Given the description of an element on the screen output the (x, y) to click on. 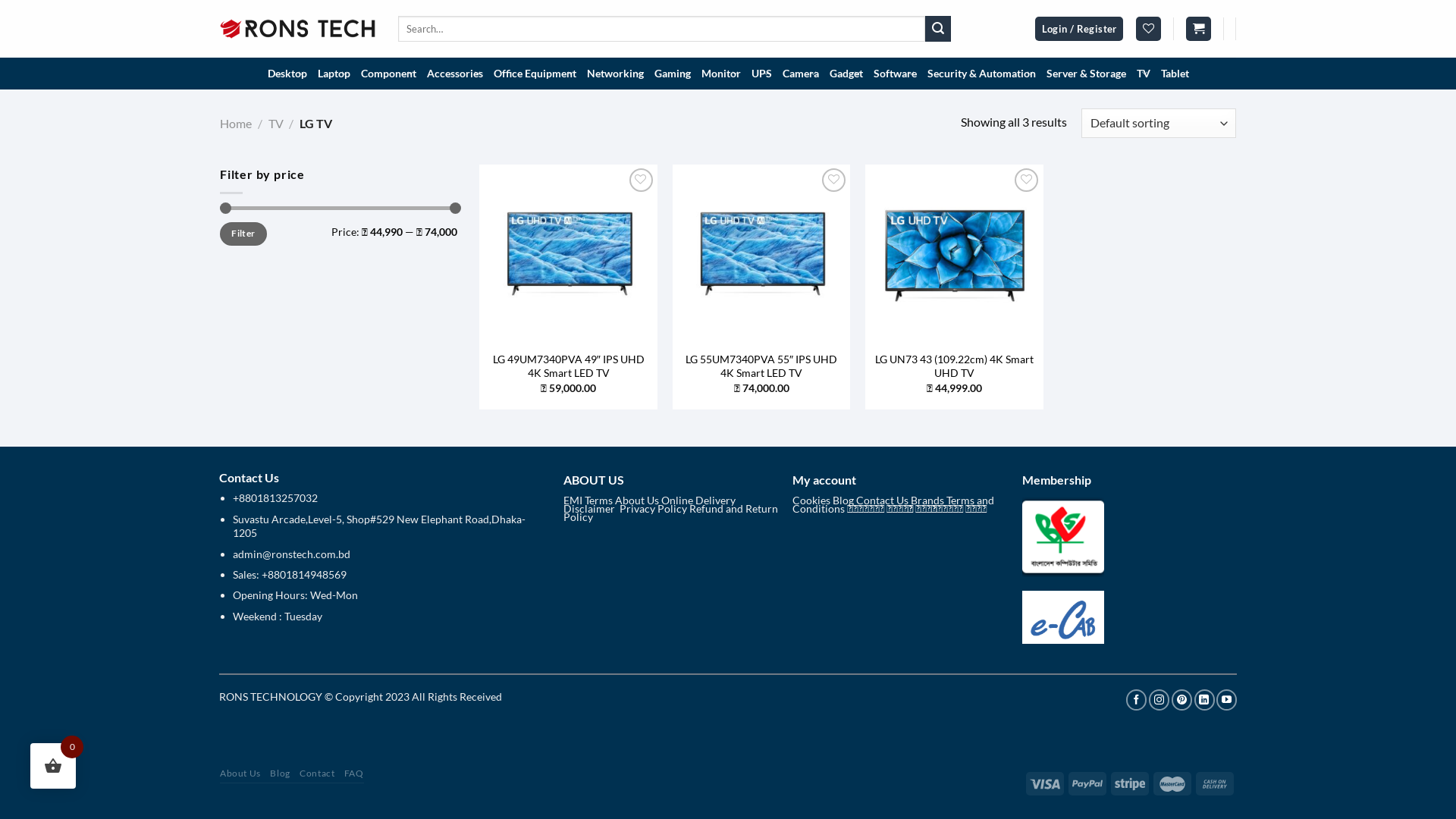
Login / Register Element type: text (1079, 28)
Blog Element type: text (279, 772)
Terms and Conditions Element type: text (893, 503)
Laptop Element type: text (333, 73)
Security & Automation Element type: text (981, 73)
FAQ Element type: text (354, 772)
Online Delivery Element type: text (698, 499)
Networking Element type: text (614, 73)
Privacy Policy Element type: text (652, 508)
Disclaimer  Element type: text (589, 508)
Cookies Element type: text (811, 499)
Camera Element type: text (799, 73)
LG UN73 43 (109.22cm) 4K Smart UHD TV Element type: text (953, 366)
Software Element type: text (894, 73)
About Us Element type: text (636, 499)
Tablet Element type: text (1174, 73)
Search Element type: text (937, 28)
Desktop Element type: text (287, 73)
TV Element type: text (275, 123)
Component Element type: text (387, 73)
UPS Element type: text (761, 73)
Cart Element type: hover (1198, 28)
TV Element type: text (1143, 73)
Office Equipment Element type: text (534, 73)
Gadget Element type: text (845, 73)
About Us Element type: text (239, 772)
Accessories Element type: text (454, 73)
Server & Storage Element type: text (1085, 73)
Gaming Element type: text (672, 73)
Refund and Return Policy Element type: text (669, 512)
EMI Terms Element type: text (586, 499)
Monitor Element type: text (721, 73)
Home Element type: text (235, 123)
Contact Element type: text (316, 772)
Filter Element type: text (242, 233)
